Given the description of an element on the screen output the (x, y) to click on. 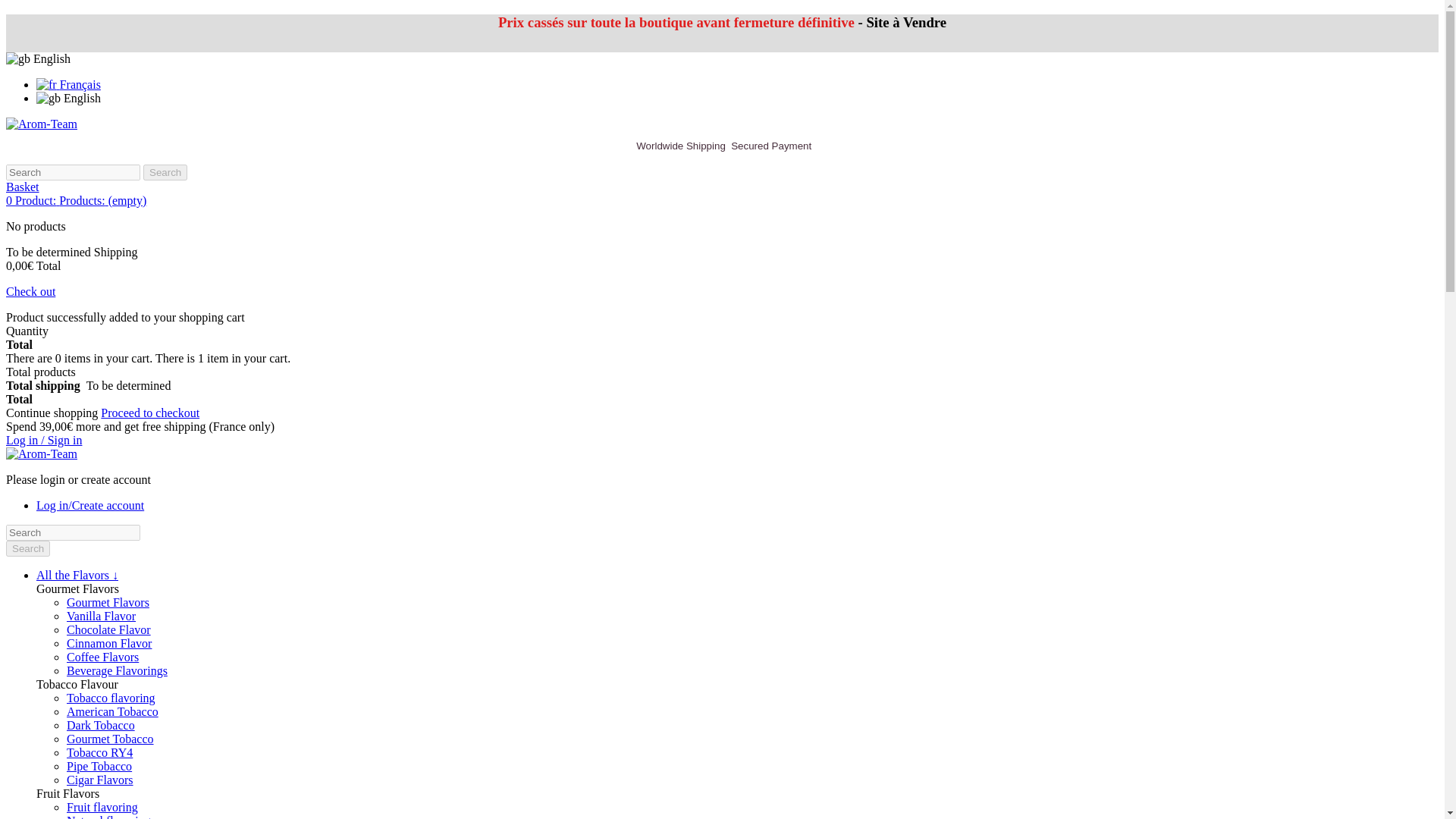
Gourmet Tobacco (110, 738)
Proceed to checkout (149, 412)
Tobacco RY4 (99, 752)
Cinnamon Flavor (108, 643)
Continue shopping (52, 412)
Pipe Tobacco (99, 766)
Log in (90, 504)
Check out (30, 291)
Search (27, 548)
Login to your customer account (43, 440)
Natural flavoring (108, 816)
Vanilla Flavor (100, 615)
Cigar Flavors (99, 779)
American Tobacco (112, 711)
Beverage Flavorings (116, 670)
